Given the description of an element on the screen output the (x, y) to click on. 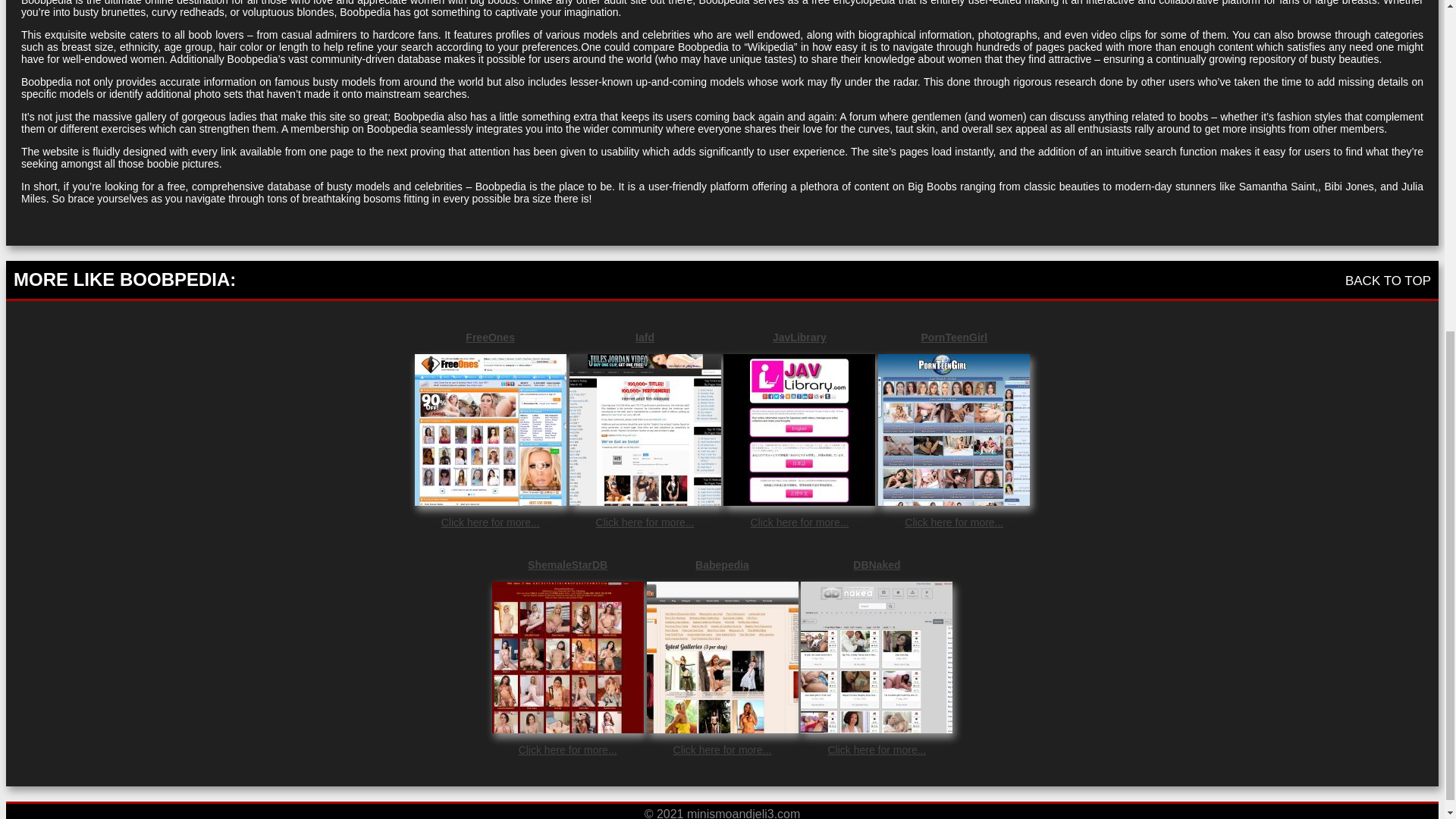
Click here for more... (644, 522)
Click here for more... (490, 522)
DBNaked (876, 564)
Click here for more... (721, 749)
Babepedia (721, 564)
BACK TO TOP (1388, 280)
Click here for more... (876, 749)
Click here for more... (953, 522)
Click here for more... (798, 522)
ShemaleStarDB (567, 564)
FreeOnes (490, 337)
JavLibrary (799, 337)
Click here for more... (567, 749)
Iafd (644, 337)
PornTeenGirl (953, 337)
